Given the description of an element on the screen output the (x, y) to click on. 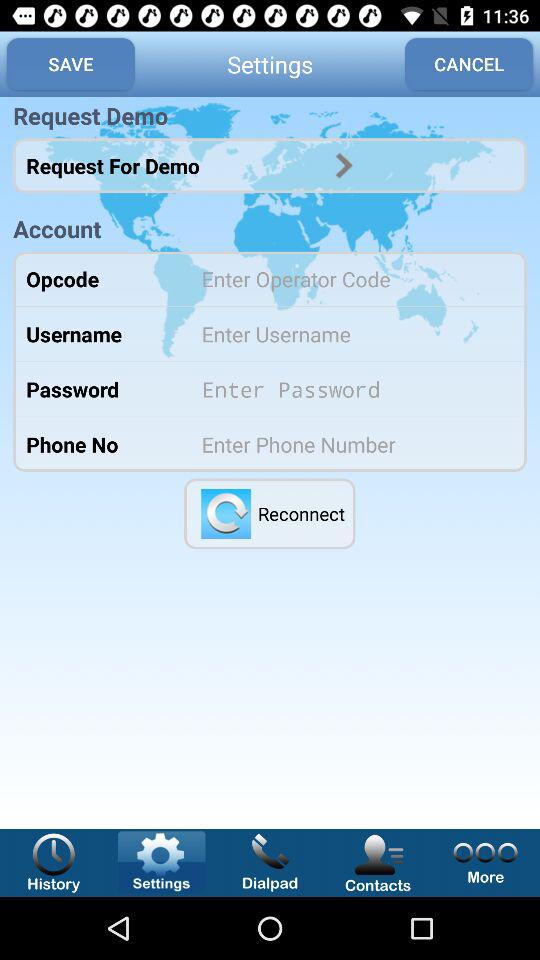
tap the item to the left of reconnect item (226, 513)
